Given the description of an element on the screen output the (x, y) to click on. 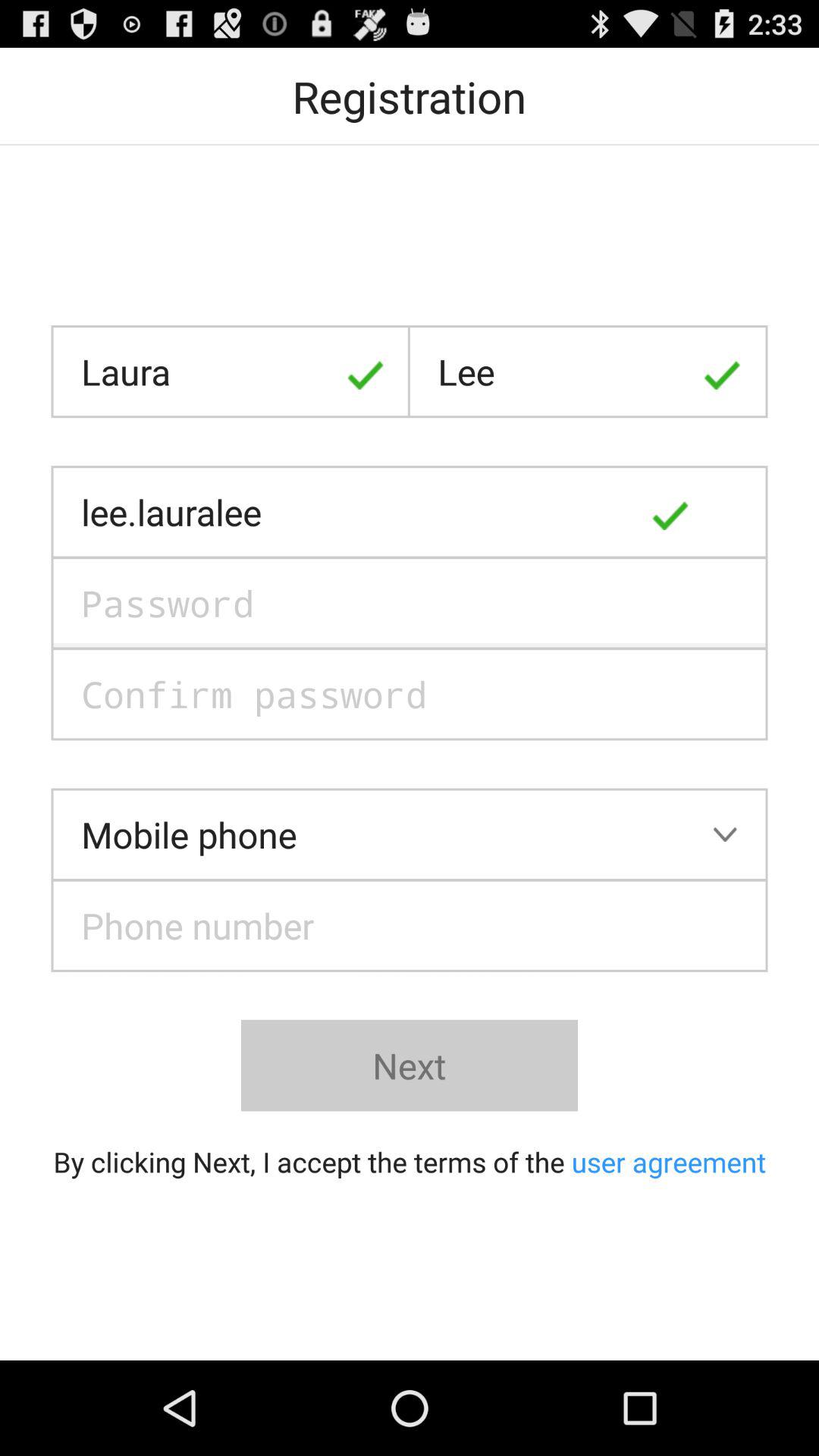
swipe until by clicking next (409, 1161)
